Given the description of an element on the screen output the (x, y) to click on. 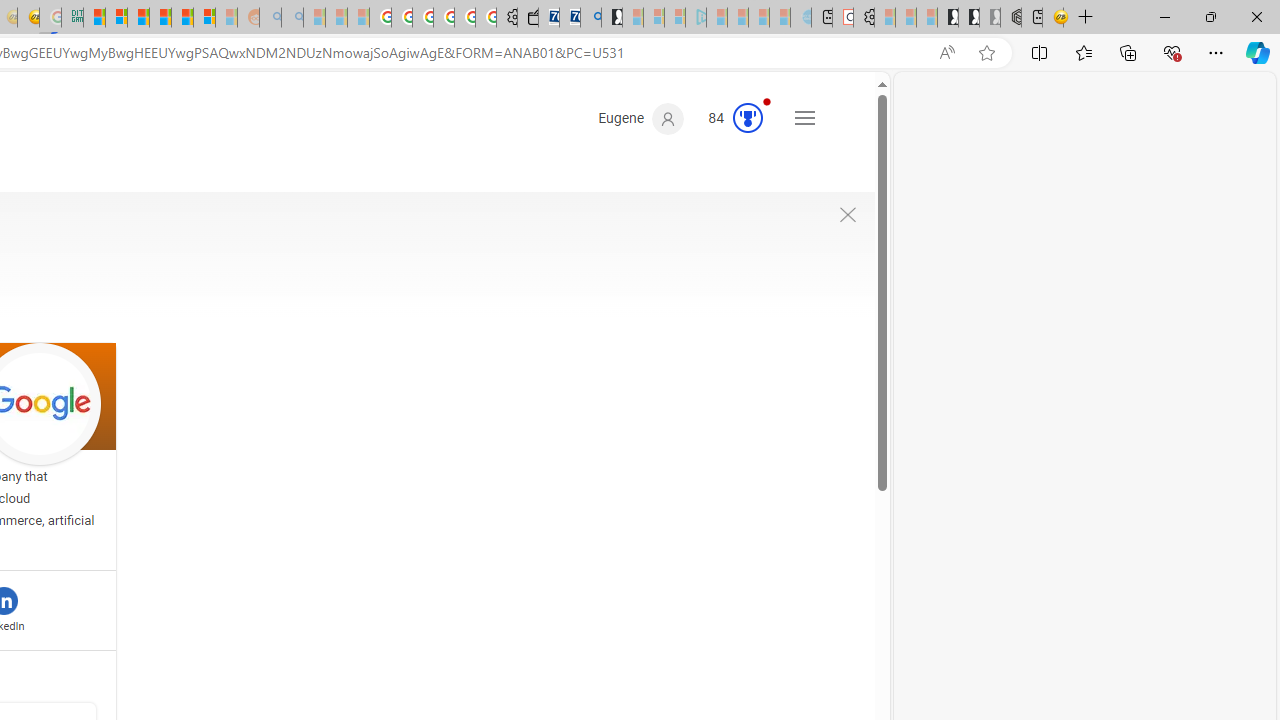
Settings and quick links (804, 117)
